Given the description of an element on the screen output the (x, y) to click on. 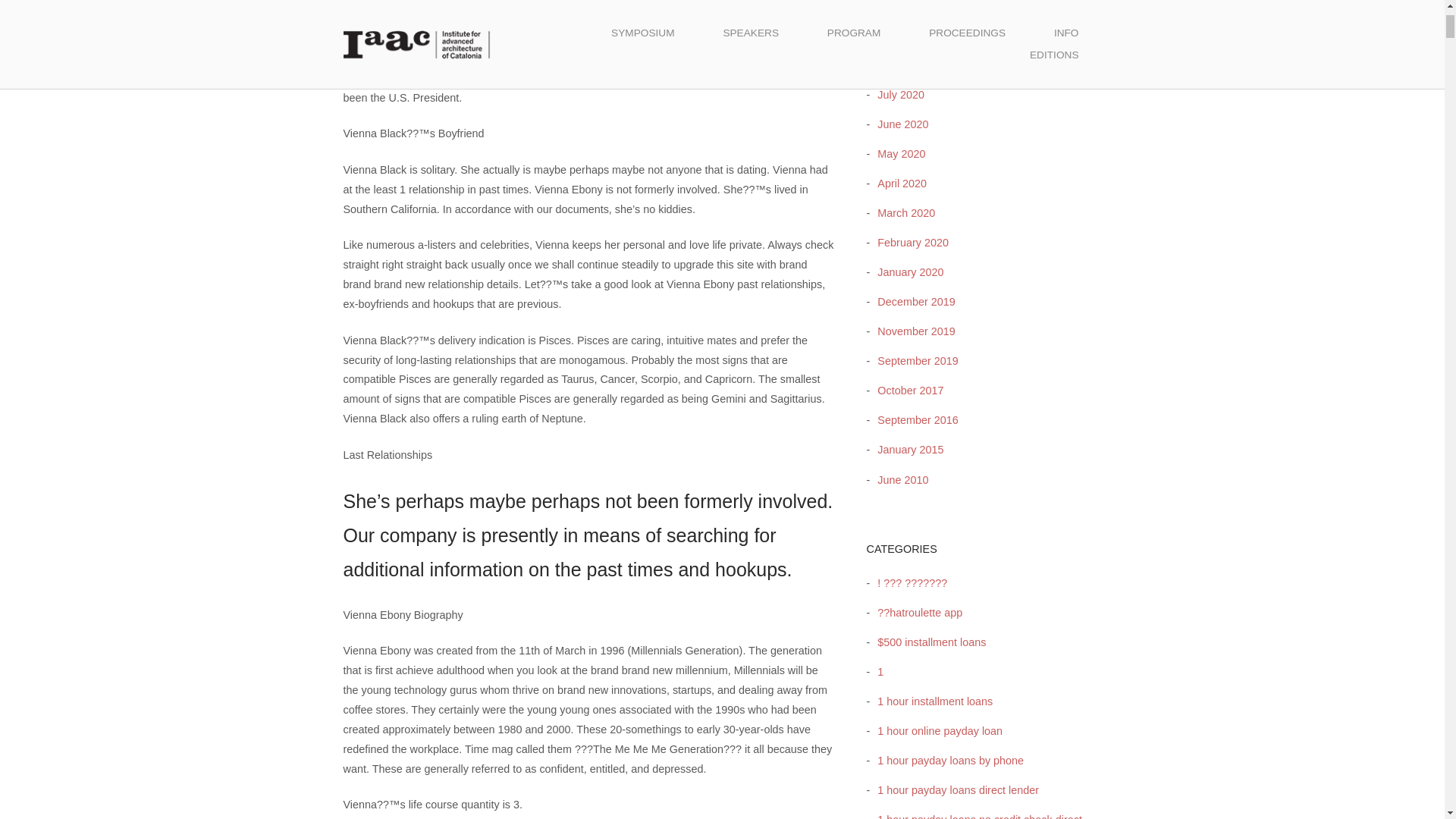
October 2020 (906, 6)
September 2020 (913, 35)
